Given the description of an element on the screen output the (x, y) to click on. 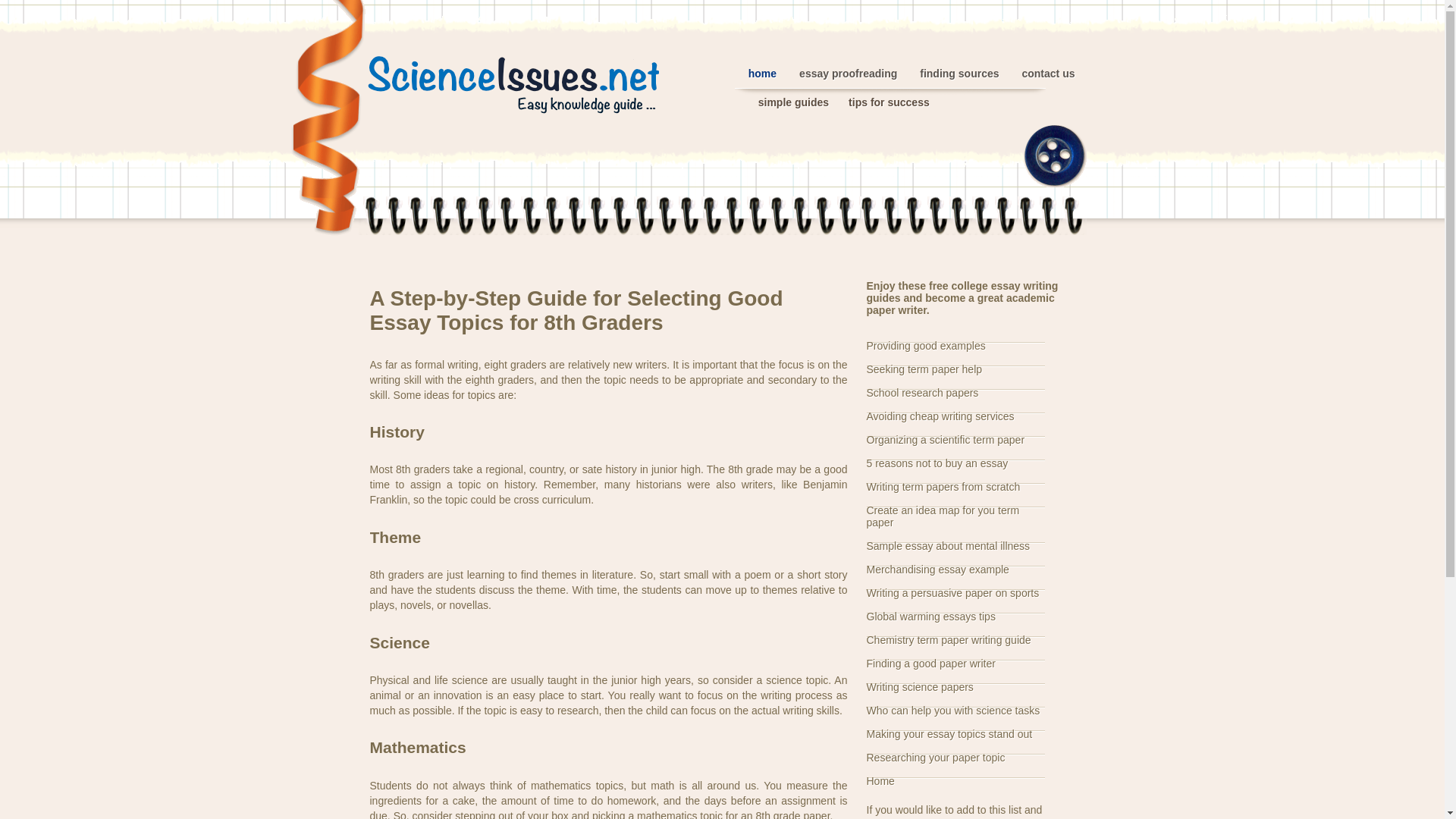
finding sources (959, 73)
Writing Science Papers Can Be A Very Interesting Task (919, 686)
contact us (1048, 73)
essay proofreading (847, 73)
Research Paper Writing Prompts - Providing Good Examples (925, 345)
School Research Papers: Your Introduction Must Shine (922, 392)
Researching Your Paper Topic (935, 757)
Writing Term Papers From Scratch: Some Basic Prompts (943, 486)
Why You Should Not Buy Essays From Online Writing Agencies (936, 463)
Proofread Essay Sample On The Topic Of Mental Illness (947, 545)
home (762, 73)
simple guides (793, 102)
